Given the description of an element on the screen output the (x, y) to click on. 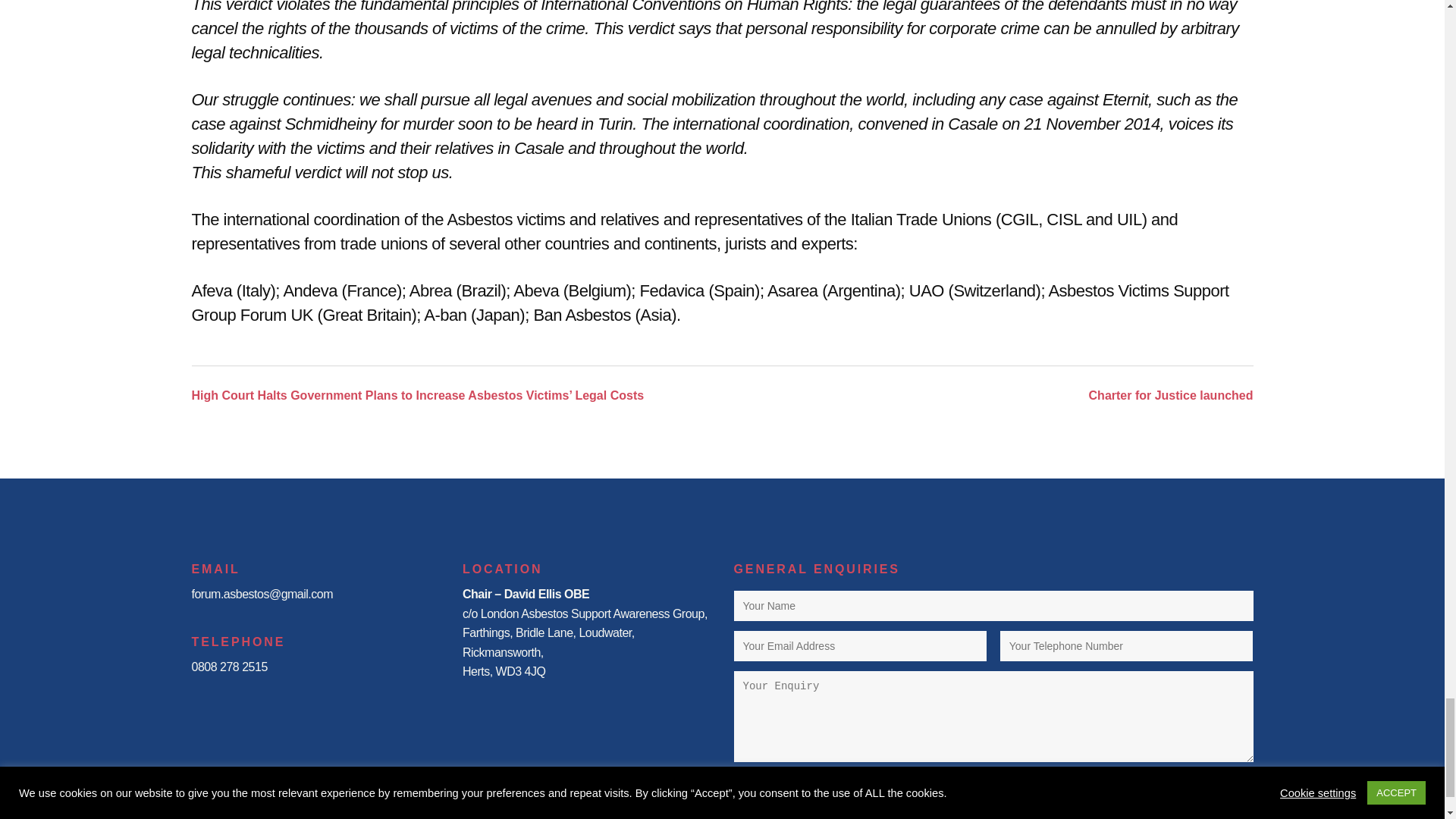
Submit (993, 789)
Charter for Justice launched (1163, 395)
Submit (993, 789)
